Given the description of an element on the screen output the (x, y) to click on. 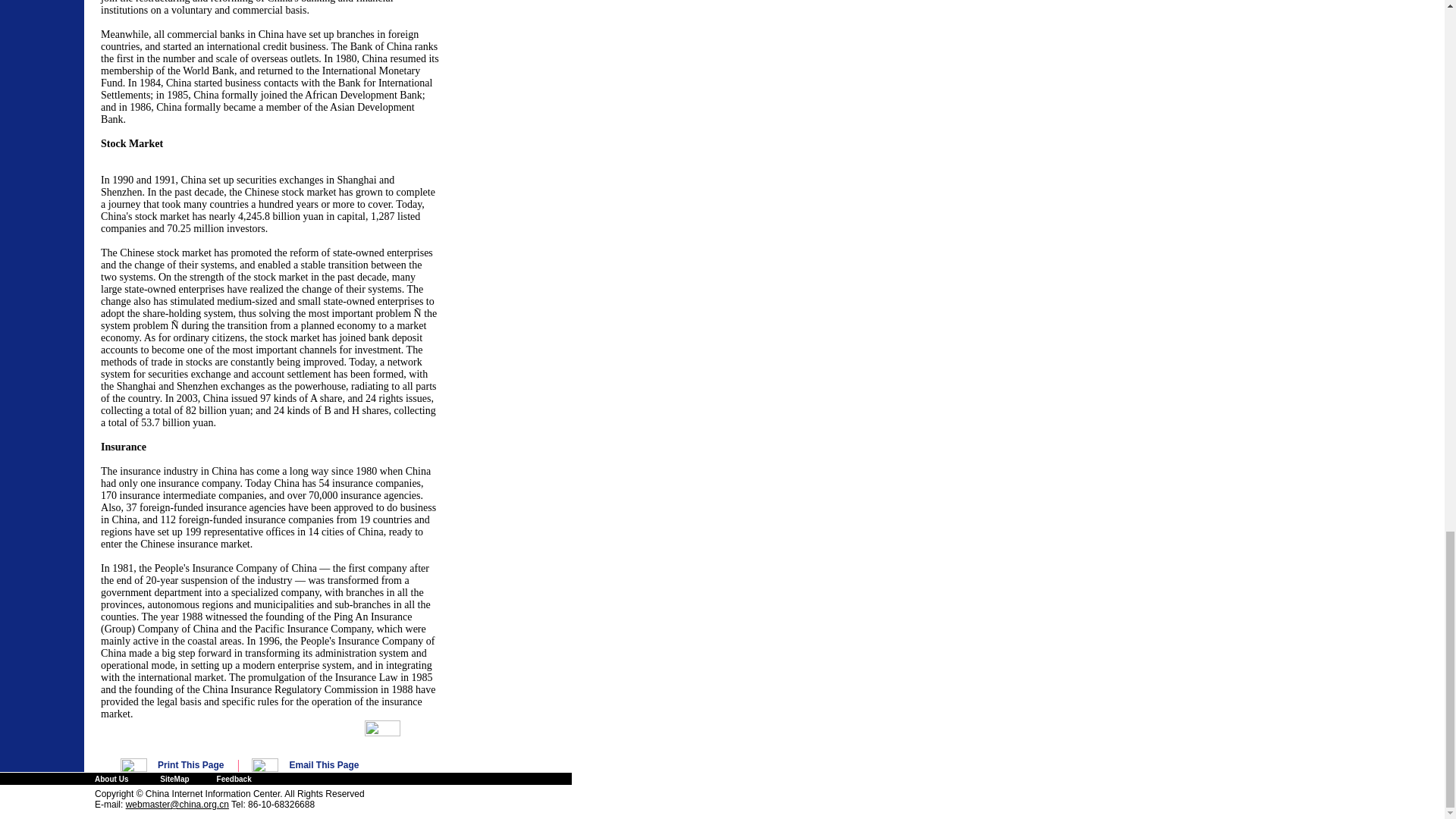
SiteMap (174, 777)
About Us (111, 777)
Print This Page (190, 765)
Feedback (233, 777)
Email This Page (324, 765)
